Given the description of an element on the screen output the (x, y) to click on. 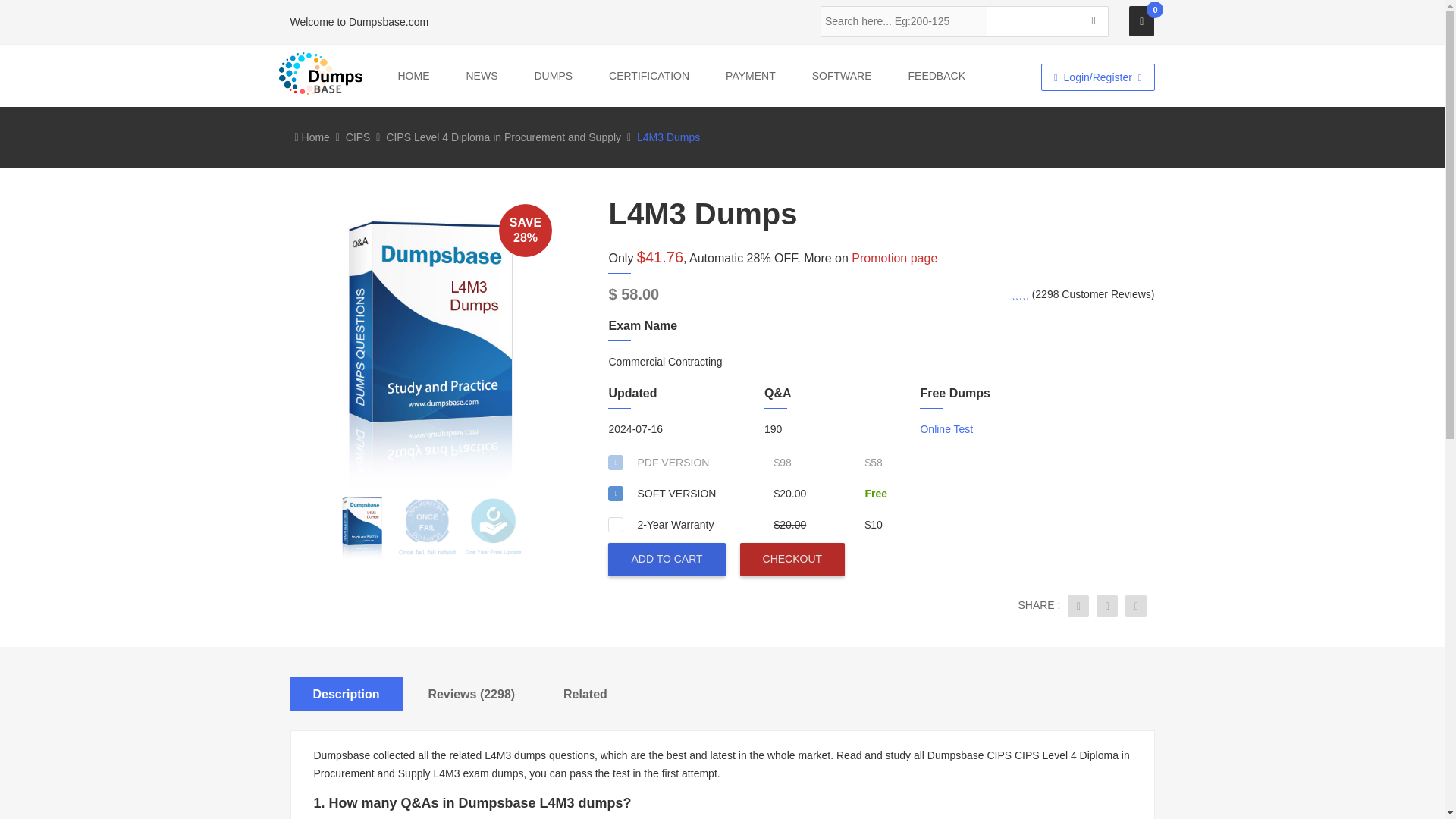
HOME (413, 75)
ADD TO CART (666, 559)
Home (311, 137)
Online Test (946, 428)
CIPS (358, 137)
DUMPS (553, 75)
CIPS Level 4 Diploma in Procurement and Supply (503, 137)
CERTIFICATION (648, 75)
Promotion page (894, 257)
PAYMENT (751, 75)
Description (345, 694)
SOFTWARE (842, 75)
CHECKOUT (792, 559)
FEEDBACK (936, 75)
